Given the description of an element on the screen output the (x, y) to click on. 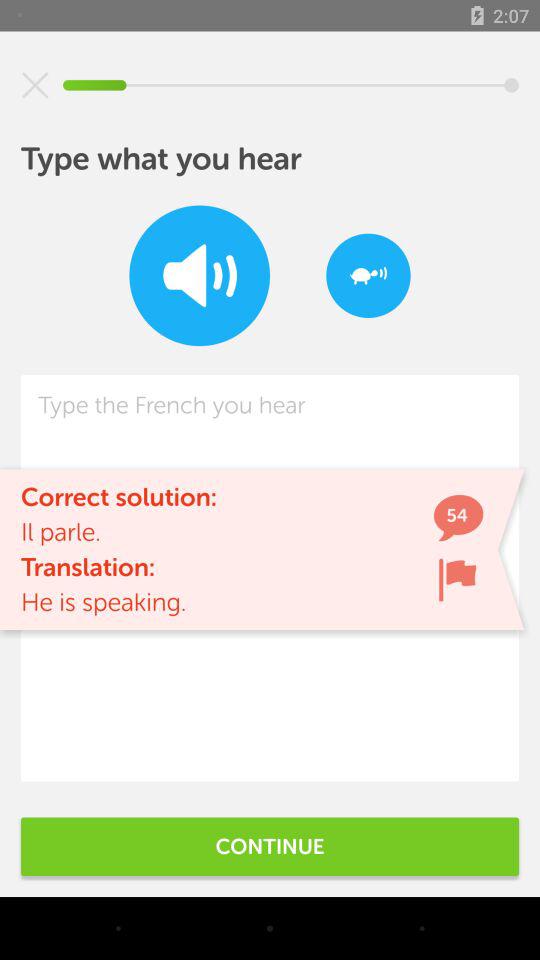
jump until continue icon (270, 846)
